Given the description of an element on the screen output the (x, y) to click on. 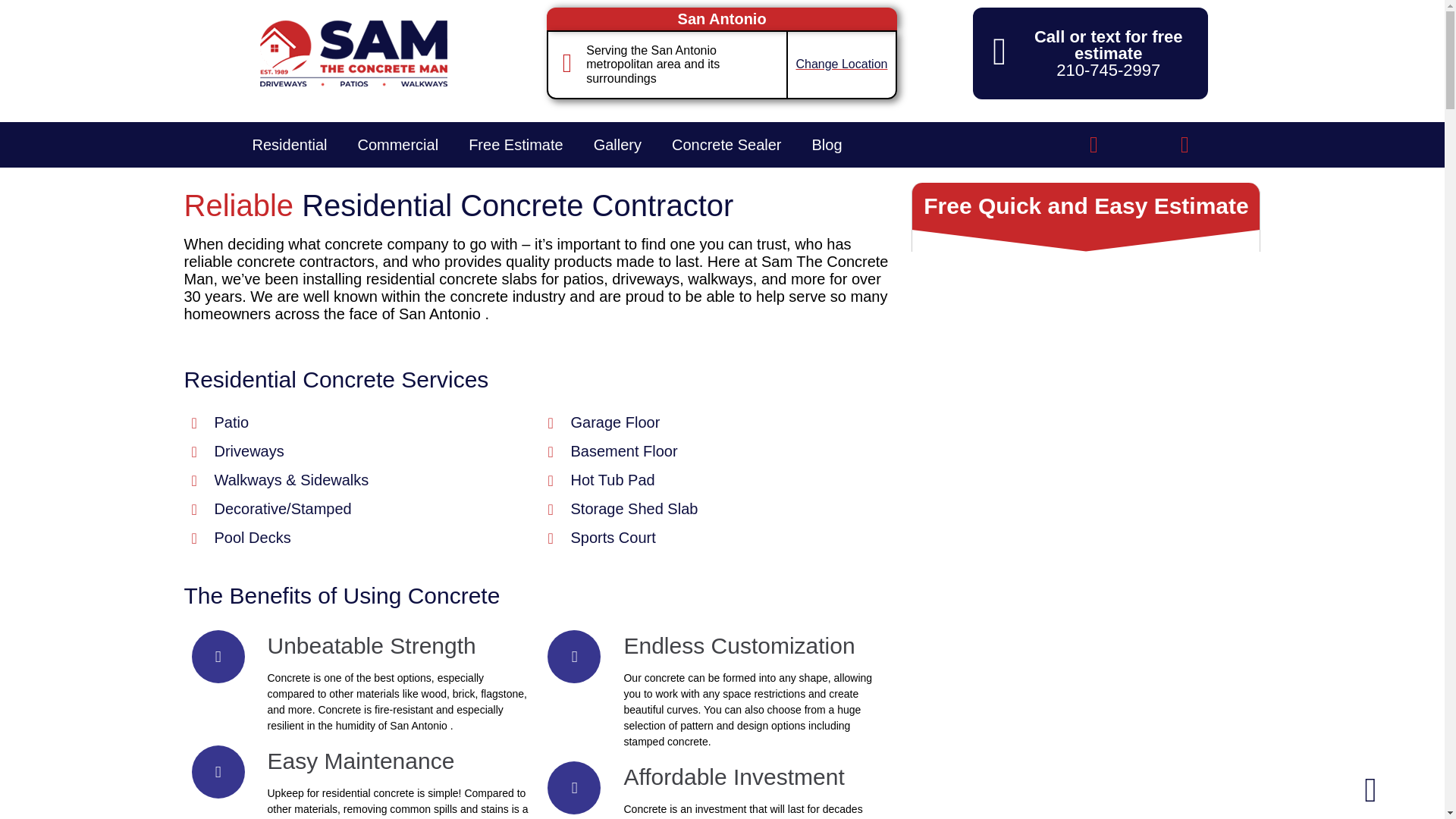
Concrete Sealer (726, 144)
Residential (288, 144)
Gallery (617, 144)
Commercial (397, 144)
Blog (826, 144)
210-745-2997 (1108, 69)
Free Estimate (515, 144)
Change Location (840, 63)
